Given the description of an element on the screen output the (x, y) to click on. 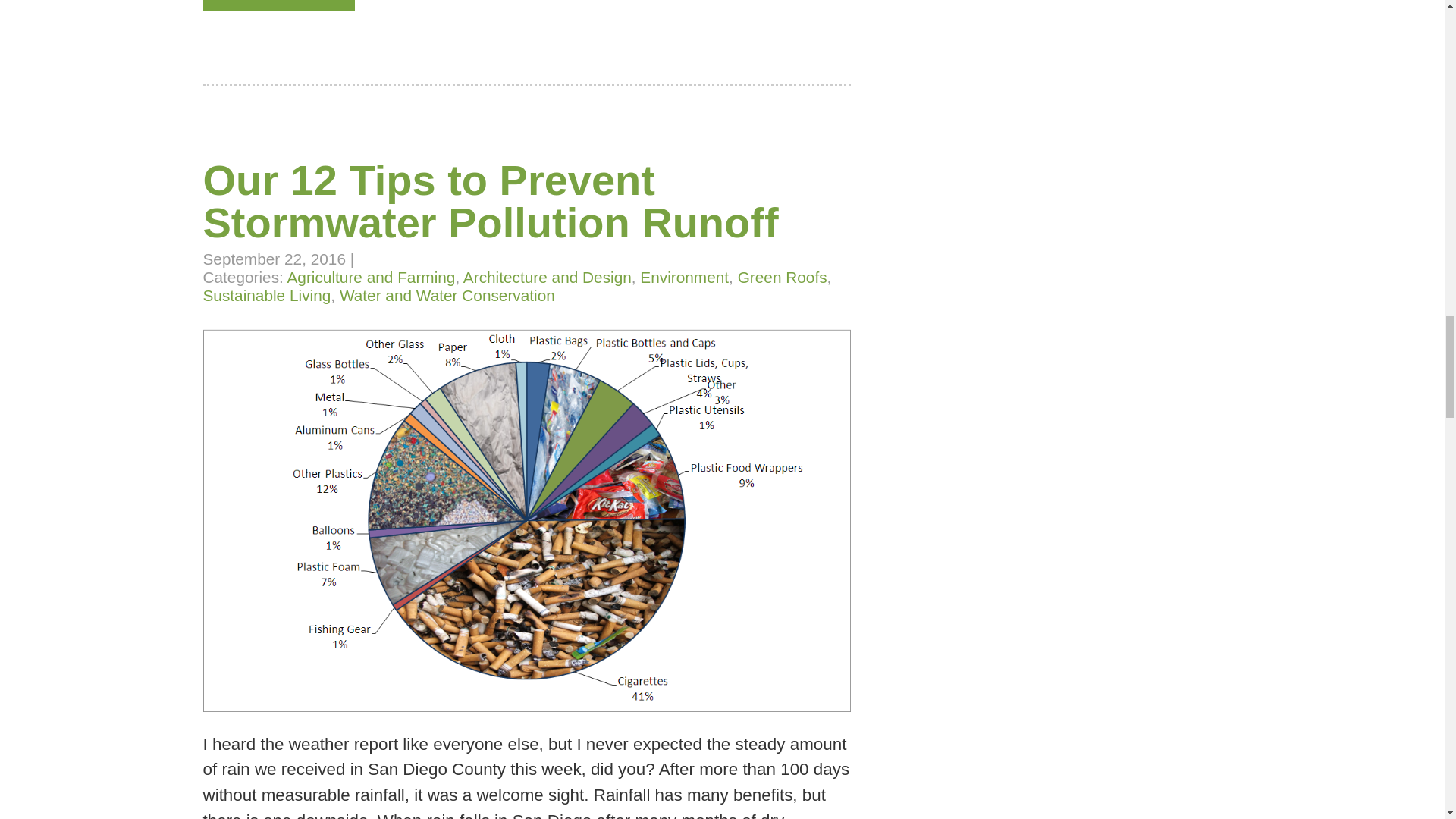
Our 12 Tips to Prevent Stormwater Pollution Runoff (490, 201)
Our 12 Tips to Prevent Stormwater Pollution Runoff (526, 705)
